Given the description of an element on the screen output the (x, y) to click on. 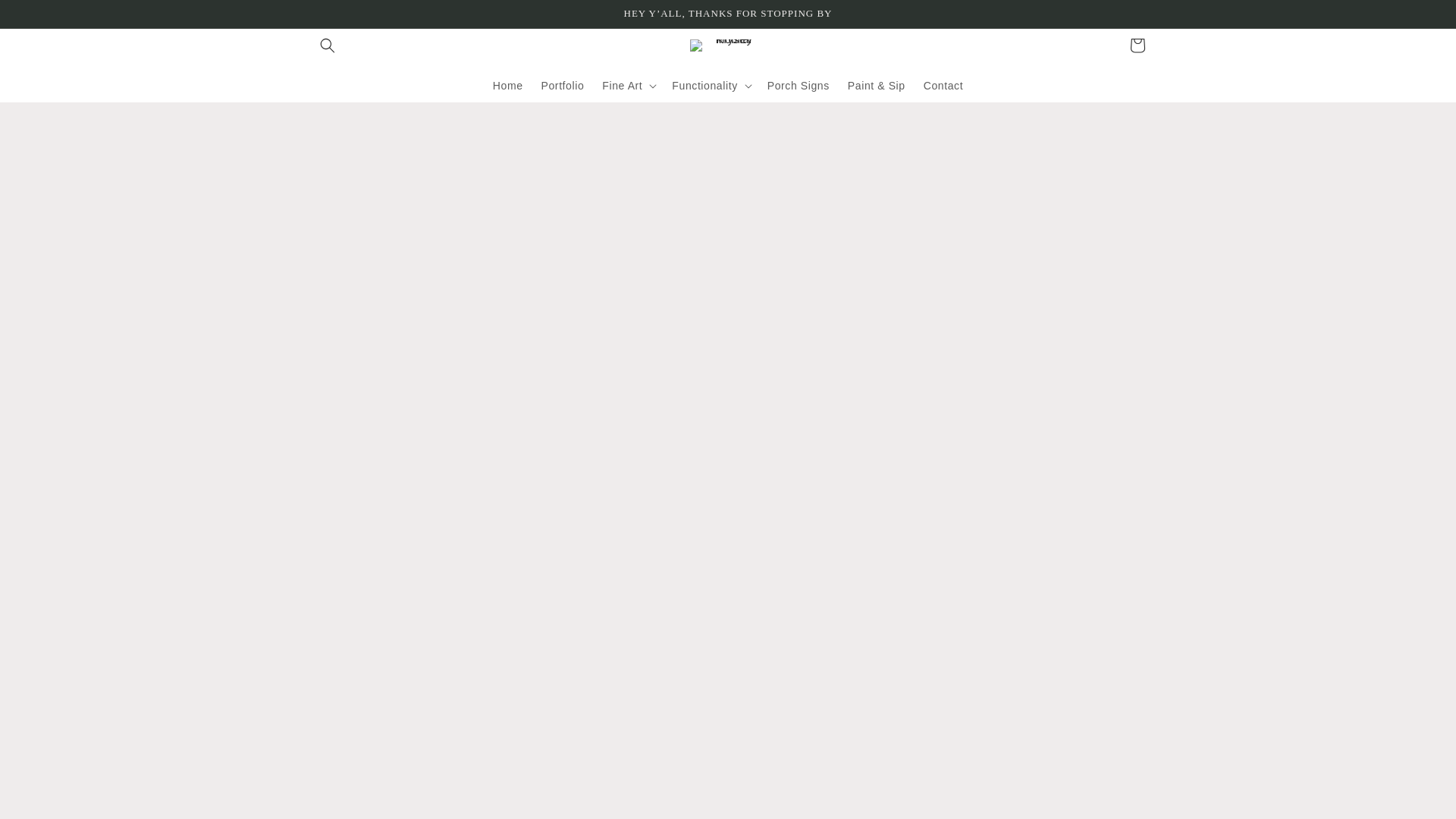
Cart (1137, 45)
Contact (943, 85)
Skip to content (45, 17)
Porch Signs (798, 85)
Home (507, 85)
Portfolio (563, 85)
